Given the description of an element on the screen output the (x, y) to click on. 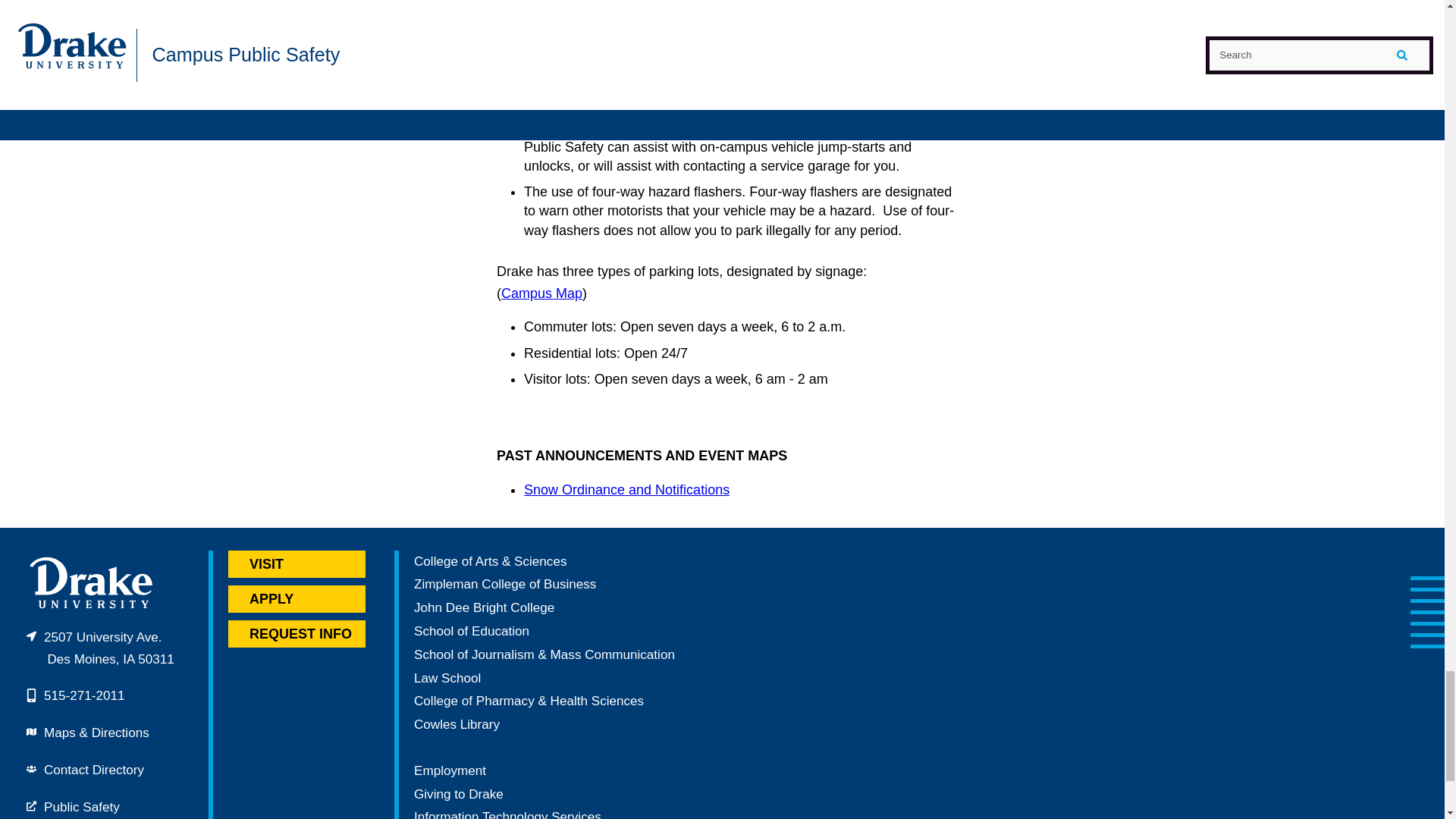
Make a financial contribution to Drake University (458, 794)
Public Safety (81, 807)
Contact Directory (93, 769)
2507 University Ave (100, 647)
